Given the description of an element on the screen output the (x, y) to click on. 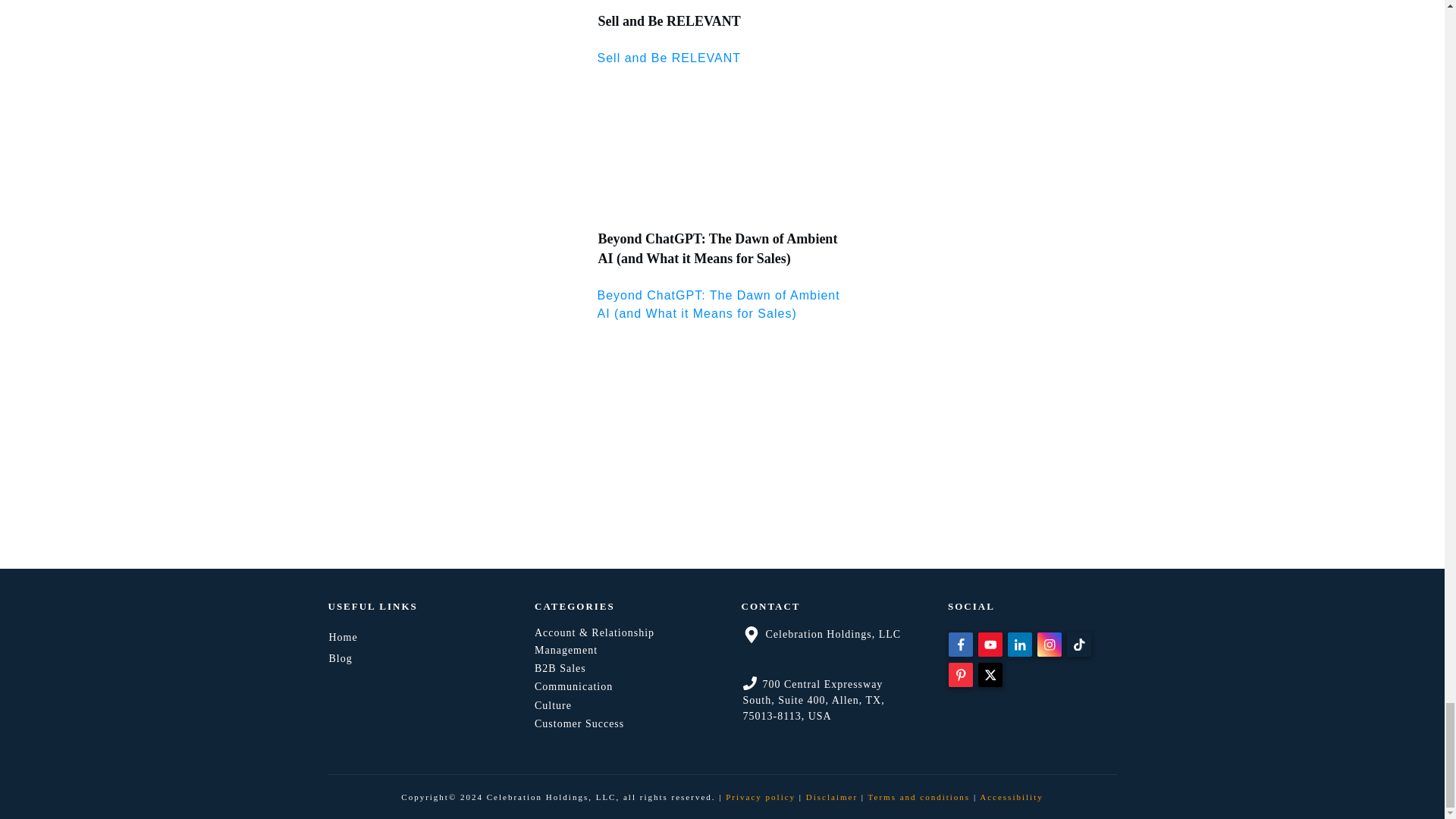
Sell and Be RELEVANT (668, 57)
Sell and Be RELEVANT (667, 20)
Sell and Be RELEVANT (667, 20)
